Given the description of an element on the screen output the (x, y) to click on. 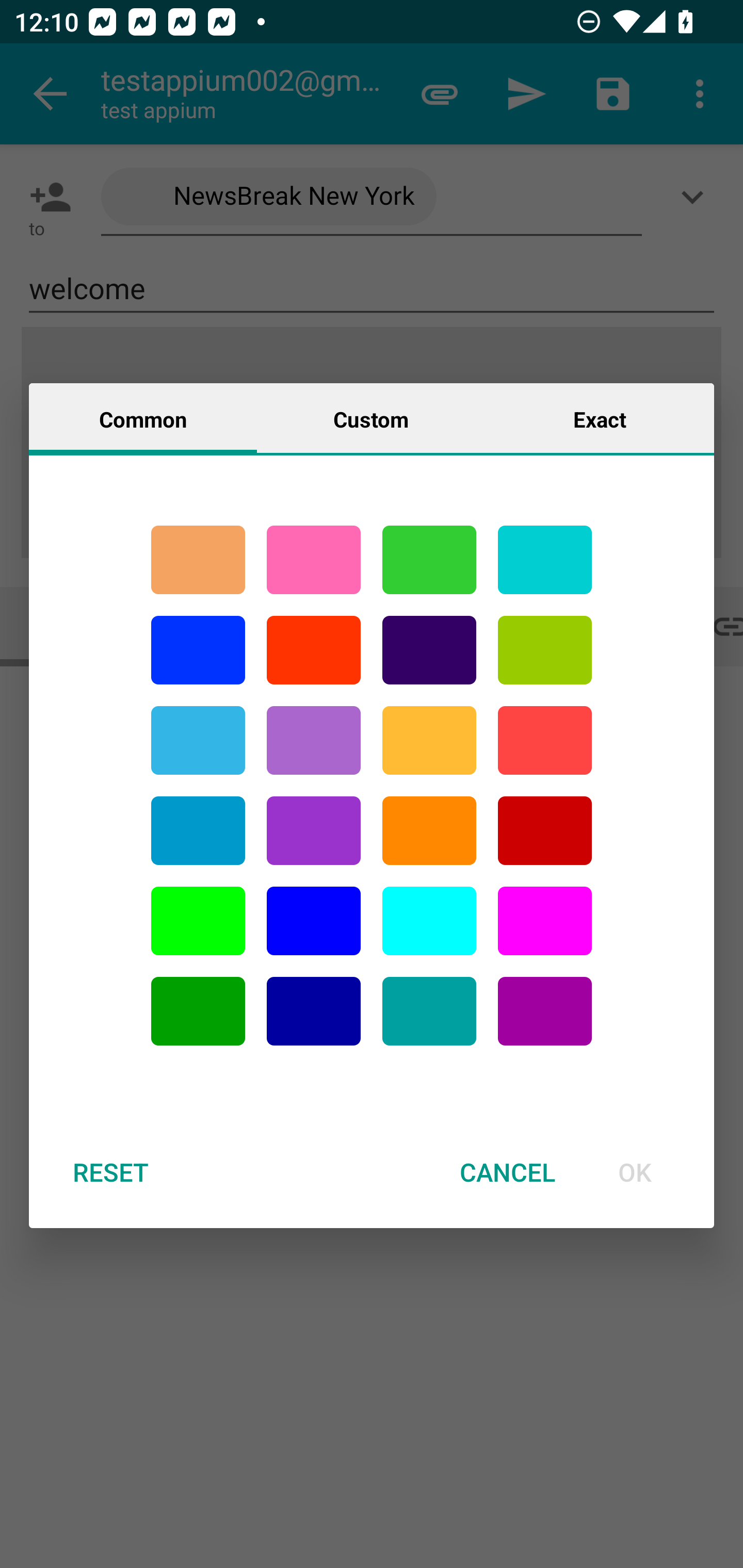
Common (142, 418)
Custom (371, 418)
Exact (599, 418)
Peach (197, 559)
Pink (313, 559)
Green (429, 559)
Cyan (544, 559)
Blue (197, 649)
Red (313, 649)
Dark purple (429, 649)
Light green (544, 649)
Cyan (197, 739)
Purple (313, 739)
Light orange (429, 739)
Light red (544, 739)
Dark cyan (197, 830)
Purple (313, 830)
Orange (429, 830)
Dark red (544, 830)
Light green (197, 920)
Blue (313, 920)
Light cyan (429, 920)
Light purple (544, 920)
Dark green (197, 1010)
Dark blue (313, 1010)
Cyan (429, 1010)
Purple (544, 1010)
RESET (110, 1171)
CANCEL (507, 1171)
OK (634, 1171)
